Given the description of an element on the screen output the (x, y) to click on. 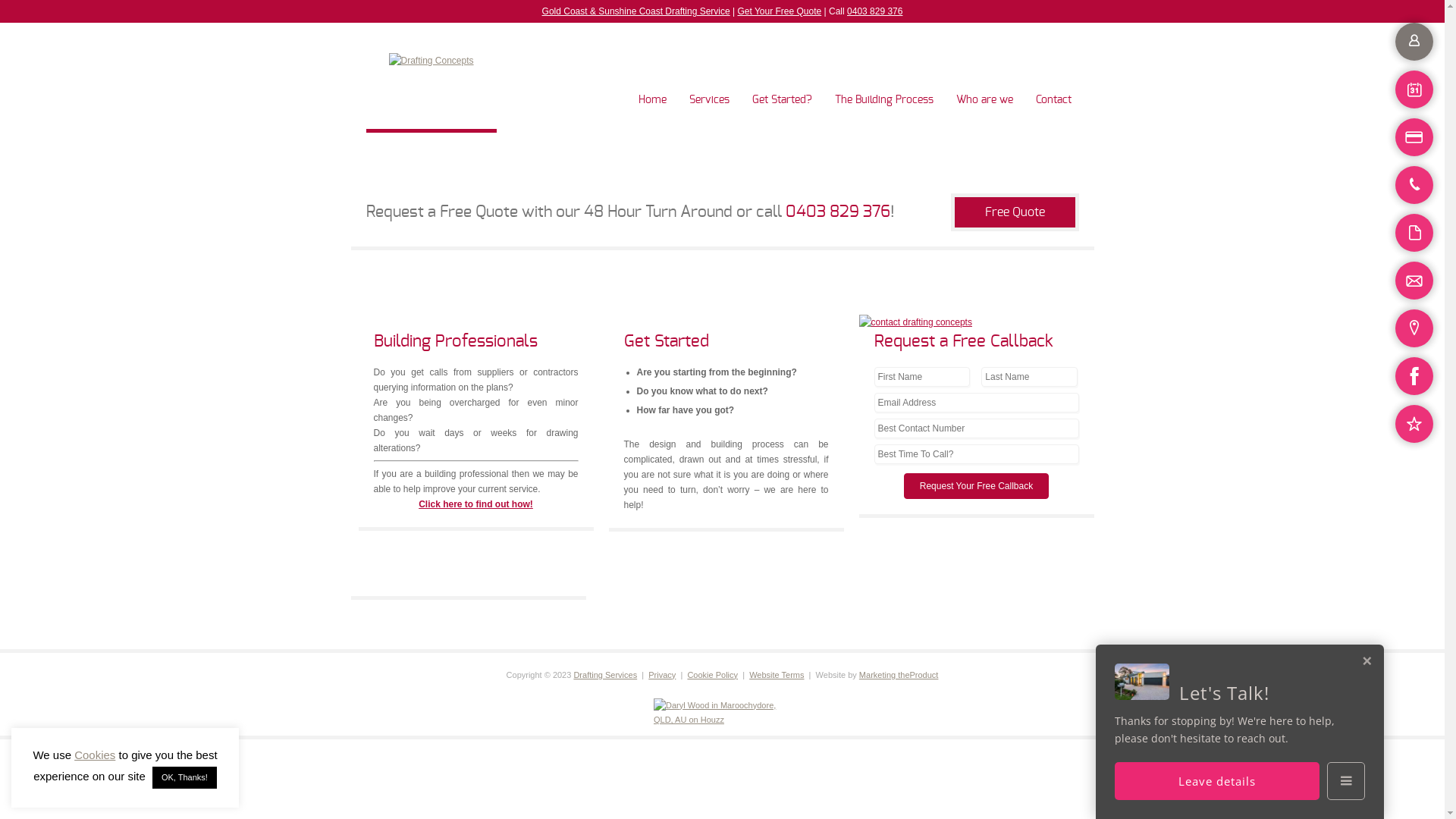
Gold Coast & Sunshine Coast Drafting Service Element type: text (636, 11)
Free Quote Element type: text (1014, 212)
Request Your Free Callback Element type: text (975, 485)
contact drafing concepts Element type: hover (914, 321)
Get Started Element type: text (665, 340)
0403 829 376 Element type: text (837, 211)
Request a Free Callback Element type: text (962, 340)
Cookies Element type: text (94, 754)
Drafting Concepts Element type: hover (430, 60)
Who are we Element type: text (983, 83)
Marketing theProduct Element type: text (898, 674)
Privacy Element type: text (661, 674)
Contact Element type: text (1053, 83)
The Building Process Element type: text (883, 83)
Leave details Element type: text (1216, 781)
Services Element type: text (708, 83)
Drafting Services Element type: text (605, 674)
0403 829 376 Element type: text (874, 11)
Get Your Free Quote Element type: text (779, 11)
Click here to find out how! Element type: text (475, 503)
Building Professionals Element type: text (454, 340)
Get Started? Element type: text (781, 83)
Website Terms Element type: text (776, 674)
Home Element type: text (652, 83)
OK, Thanks! Element type: text (184, 777)
Cookie Policy Element type: text (712, 674)
